Given the description of an element on the screen output the (x, y) to click on. 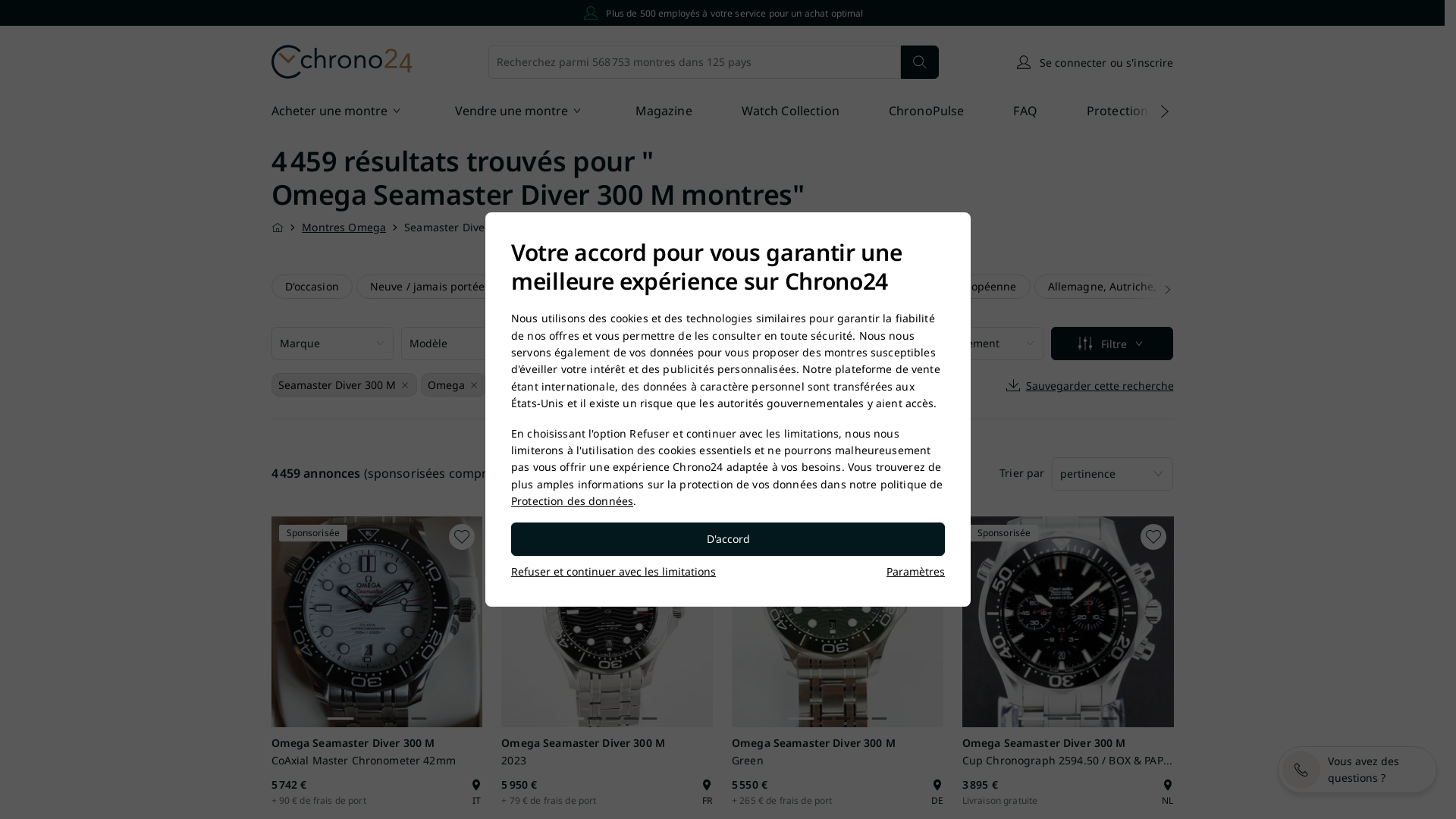
Se connecter ou s'inscrire Element type: text (1093, 62)
Marque Element type: text (332, 343)
D'accord Element type: text (727, 538)
Protection des Acheteurs incluse Element type: text (734, 286)
Magazine Element type: text (663, 111)
L'article est en stock Element type: text (567, 286)
Vendre une montre Element type: text (520, 111)
Montres Omega Element type: text (343, 227)
IT Element type: text (476, 791)
Acheter une montre Element type: text (338, 111)
Prix Element type: text (591, 343)
Vous avez des questions ? Element type: text (1357, 769)
Protection des Acheteurs Element type: text (1160, 111)
Omega Seamaster Diver 300 M montres Element type: text (531, 193)
Seamaster Diver 300 M Element type: text (335, 385)
NL Element type: text (1167, 791)
D'occasion Element type: text (311, 286)
ChronoPulse Element type: text (926, 111)
Filtre Element type: text (1112, 343)
DE Element type: text (937, 791)
Europe Element type: text (869, 286)
Watch Collection Element type: text (790, 111)
Omega Element type: text (443, 385)
Sauvegarder cette recherche Element type: text (1088, 385)
Emplacement Element type: text (982, 343)
FAQ Element type: text (1024, 111)
Allemagne, Autriche, Suisse Element type: text (1120, 286)
Refuser et continuer avec les limitations Element type: text (613, 571)
FR Element type: text (706, 791)
